Given the description of an element on the screen output the (x, y) to click on. 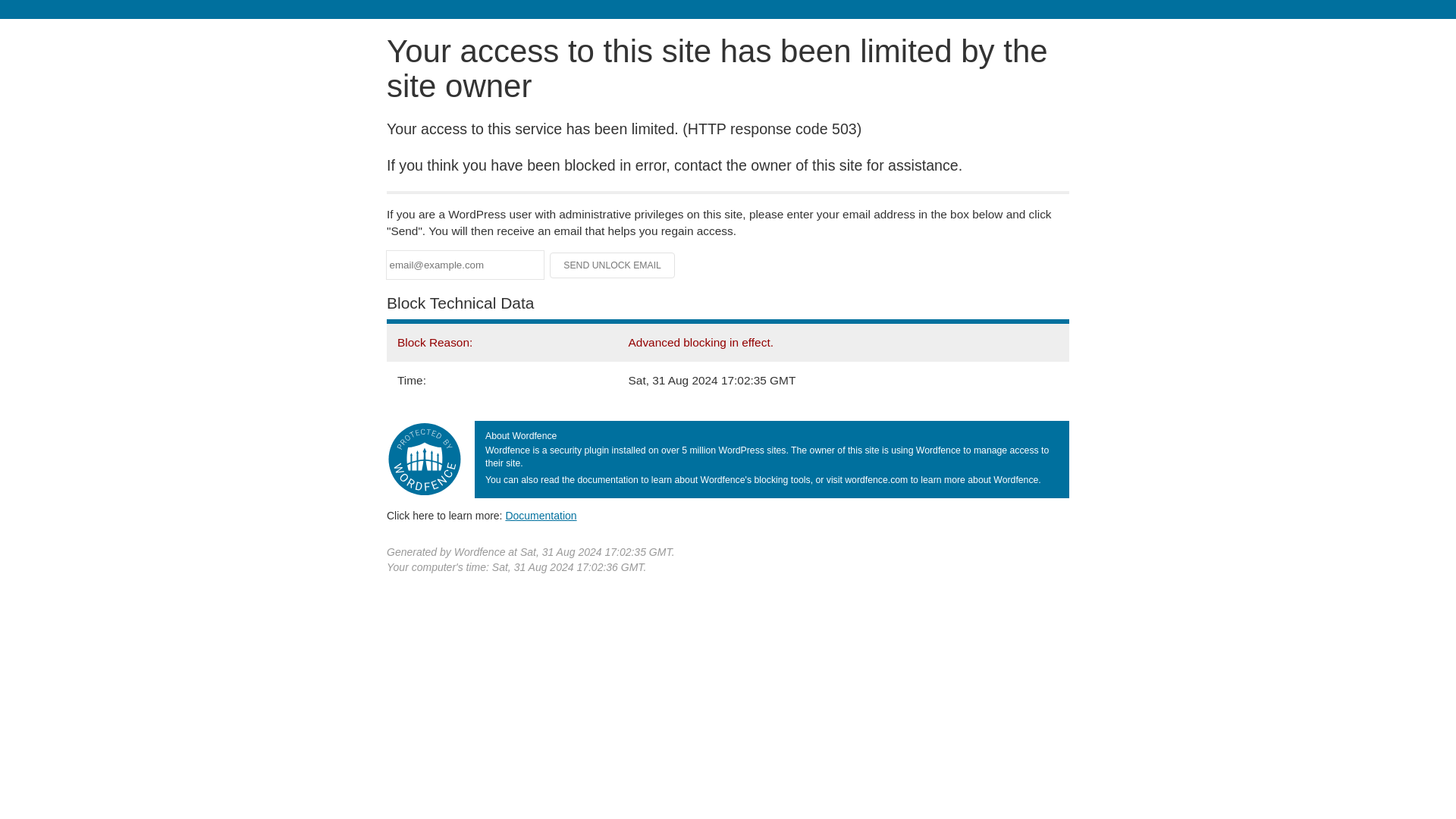
Send Unlock Email (612, 265)
Send Unlock Email (612, 265)
Documentation (540, 515)
